Given the description of an element on the screen output the (x, y) to click on. 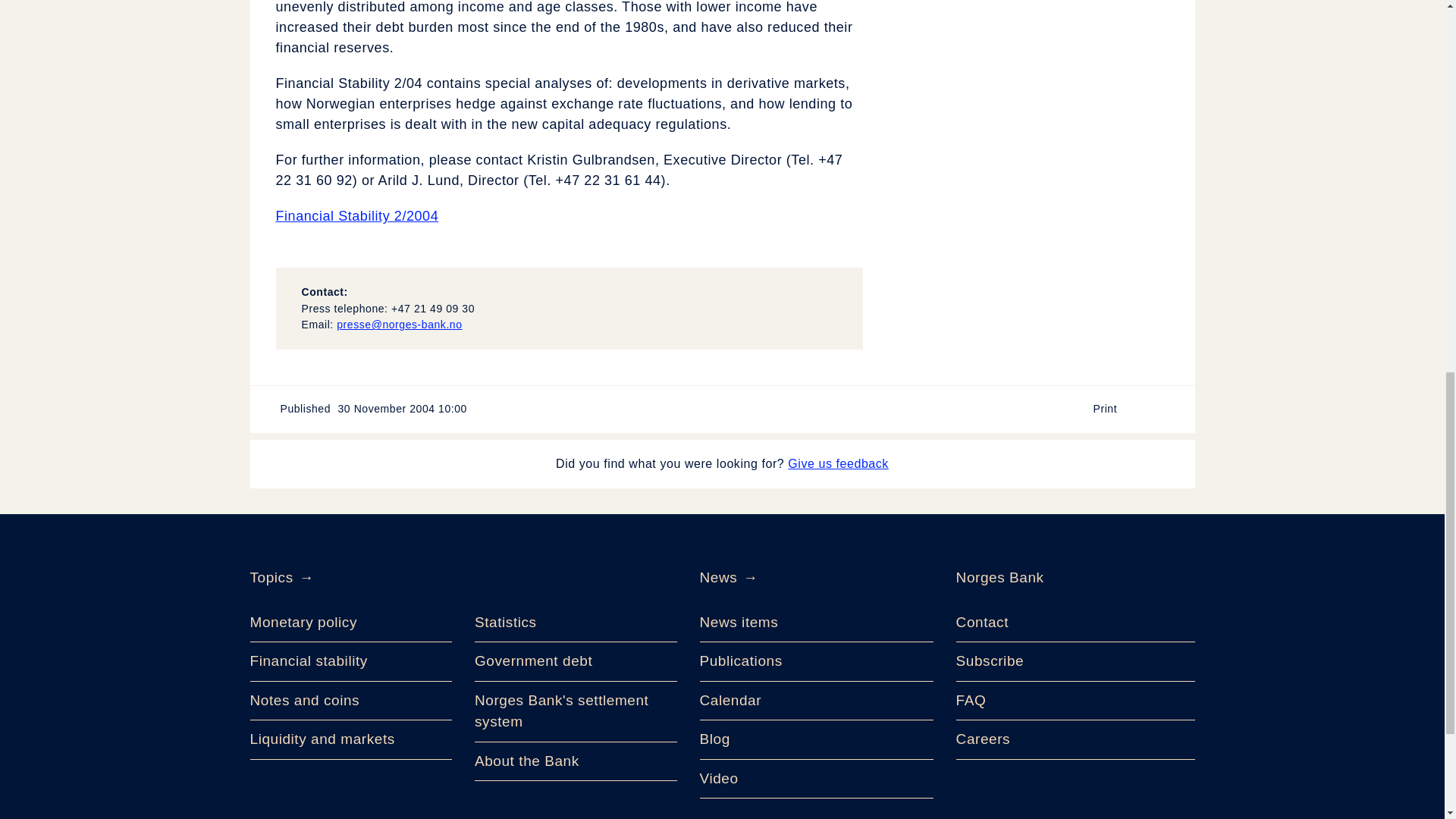
Blog (815, 740)
Monetary policy (351, 622)
Calendar (815, 701)
About the Bank (575, 762)
Contact (1075, 622)
Liquidity and markets (351, 740)
Careers (1075, 740)
FAQ (1075, 701)
Topics (272, 577)
Financial stability (351, 661)
Notes and coins (351, 701)
Video (815, 779)
Norges Bank's settlement system (575, 711)
Government debt (575, 661)
Statistics (575, 622)
